Given the description of an element on the screen output the (x, y) to click on. 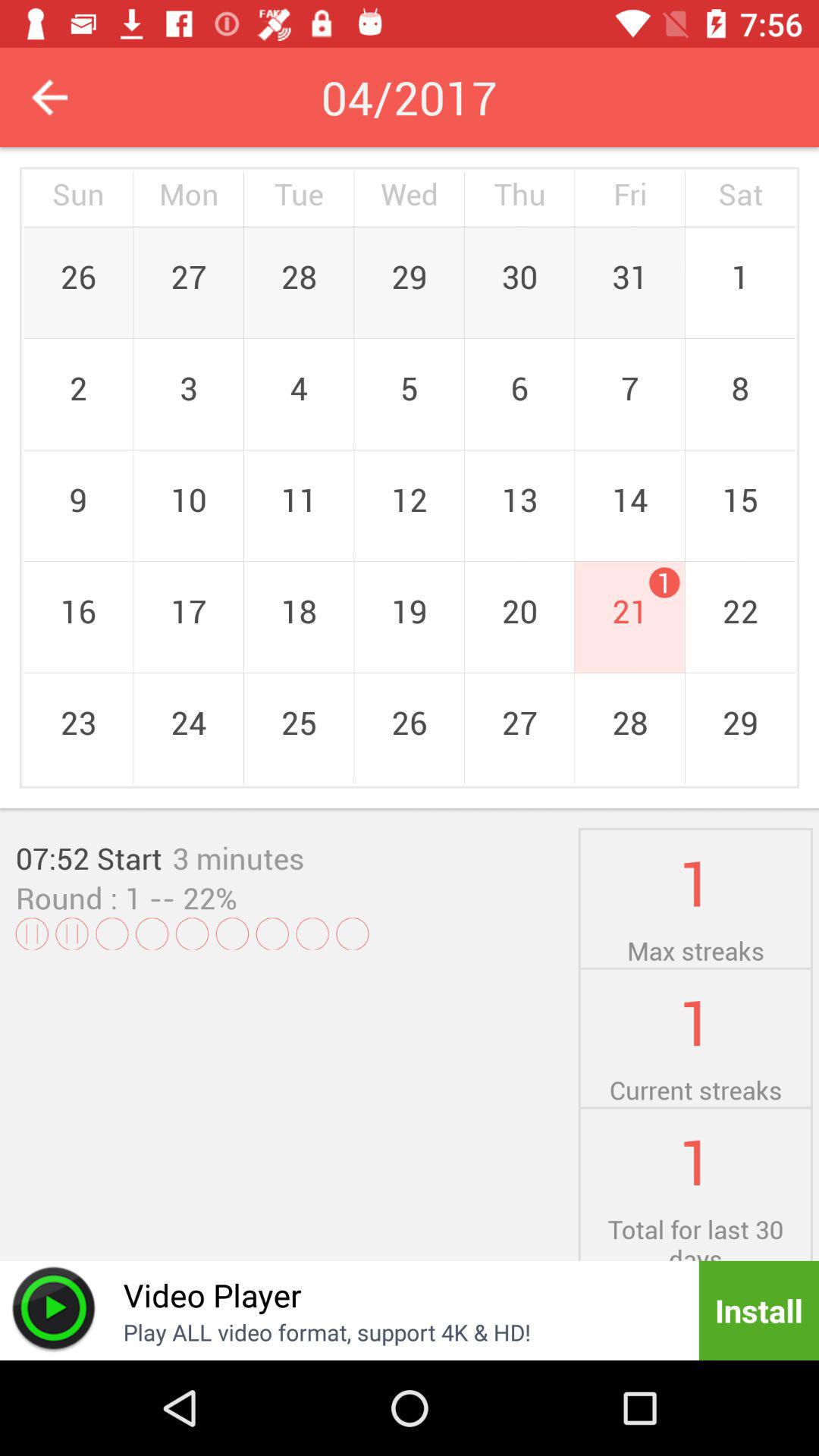
go to previous (49, 97)
